Given the description of an element on the screen output the (x, y) to click on. 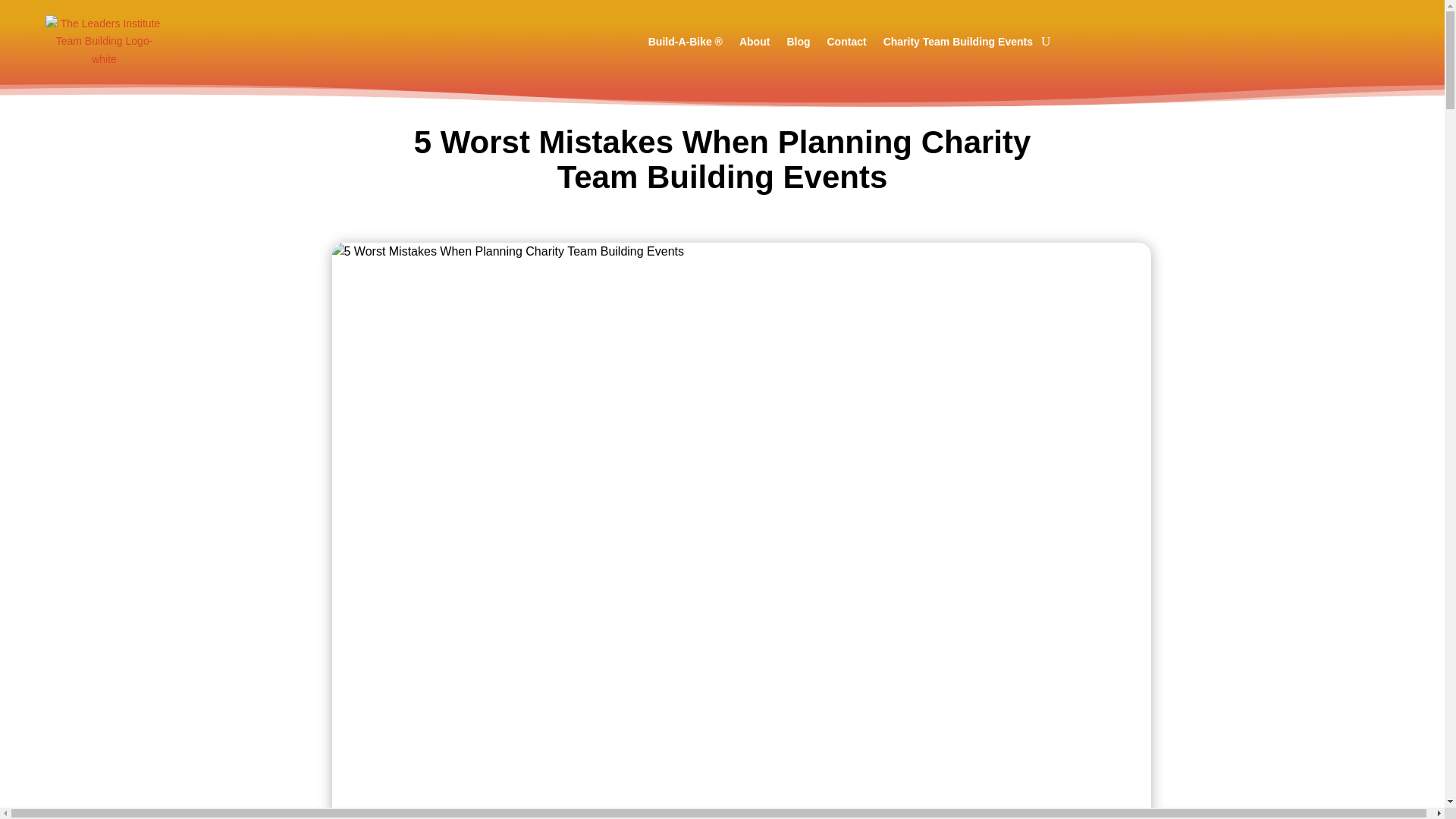
Charity Team Building Events (957, 41)
Blog (797, 41)
About (754, 41)
Contact (846, 41)
